Given the description of an element on the screen output the (x, y) to click on. 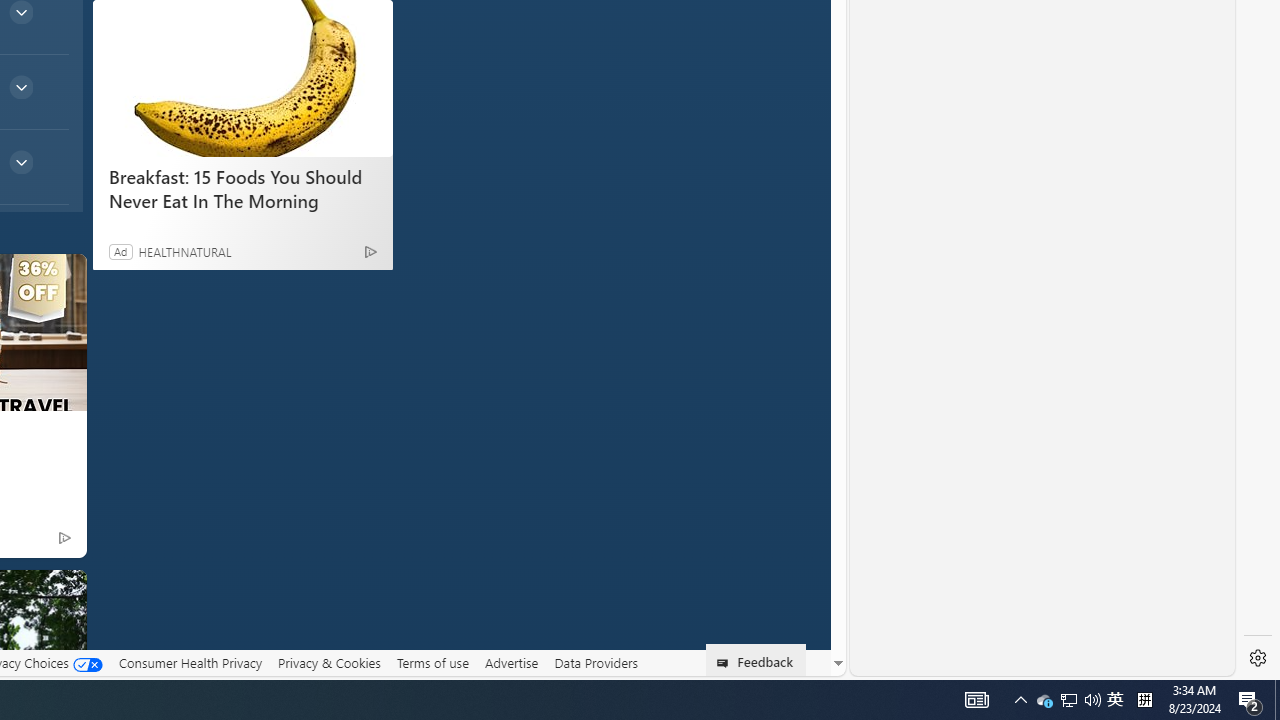
common/thinArrow (20, 161)
HEALTHNATURAL (184, 251)
Breakfast: 15 Foods You Should Never Eat In The Morning (242, 188)
Class: feedback_link_icon-DS-EntryPoint1-1 (726, 663)
Data Providers (595, 663)
Data Providers (595, 662)
Breakfast: 15 Foods You Should Never Eat In The Morning (242, 78)
